Given the description of an element on the screen output the (x, y) to click on. 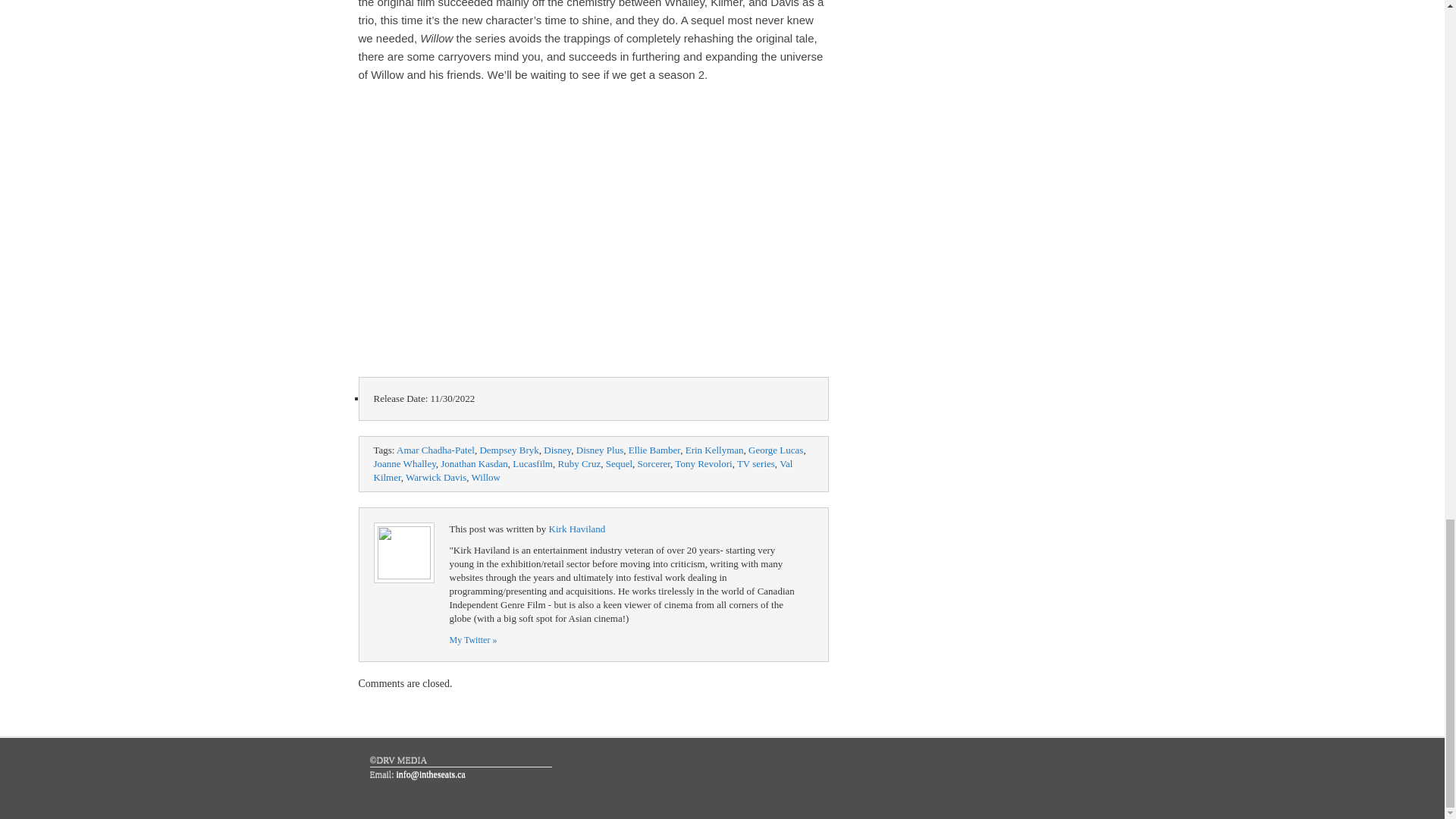
Dempsey Bryk (508, 449)
Amar Chadha-Patel (435, 449)
Erin Kellyman (714, 449)
Posts by Kirk Haviland (576, 528)
Disney (556, 449)
Ellie Bamber (653, 449)
Kirk Haviland (472, 640)
Disney Plus (599, 449)
Joanne Whalley (403, 463)
George Lucas (775, 449)
